Given the description of an element on the screen output the (x, y) to click on. 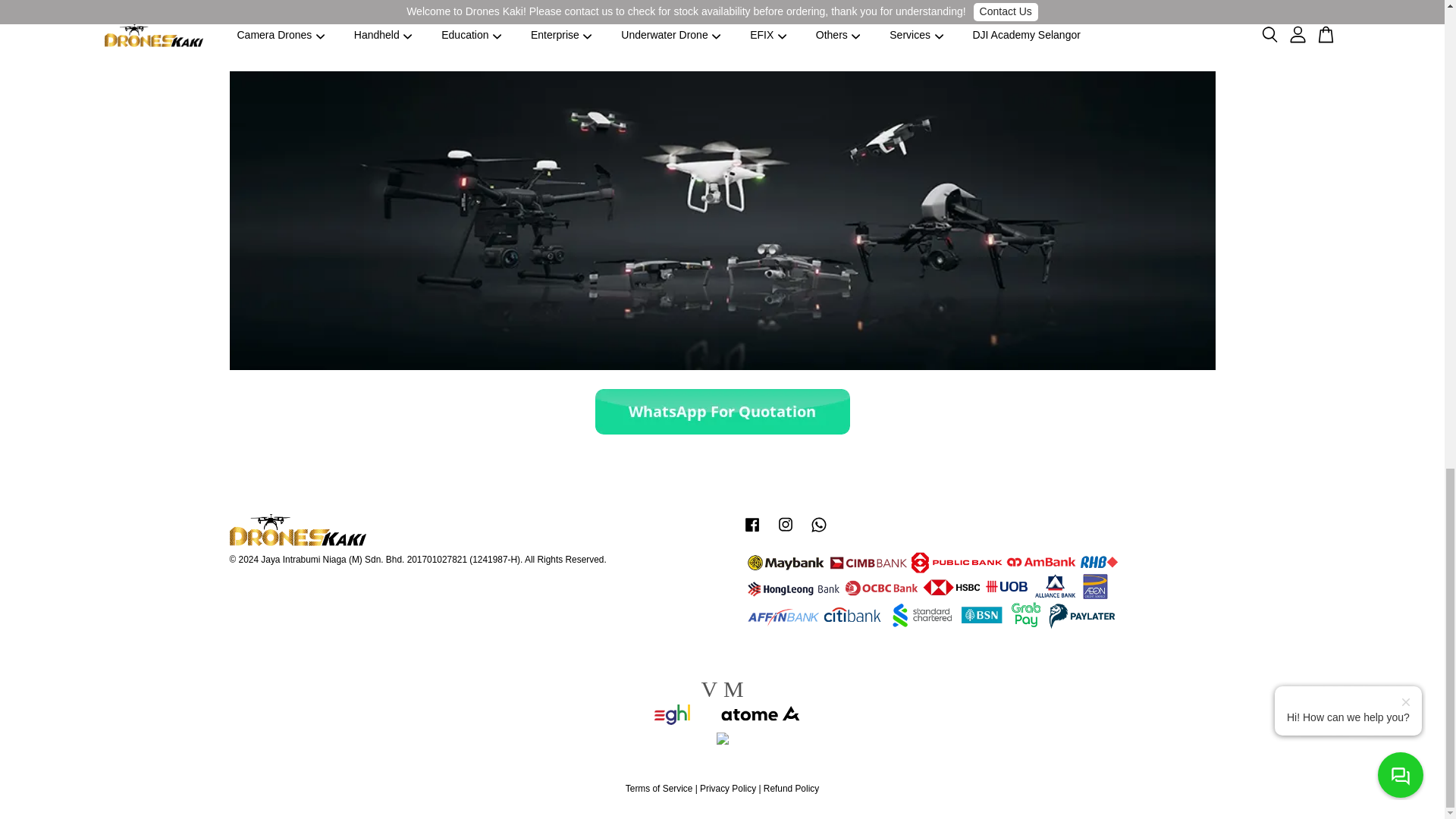
icon-whatsapp (818, 524)
icon-facebook (751, 524)
icon-instagram (785, 524)
